Given the description of an element on the screen output the (x, y) to click on. 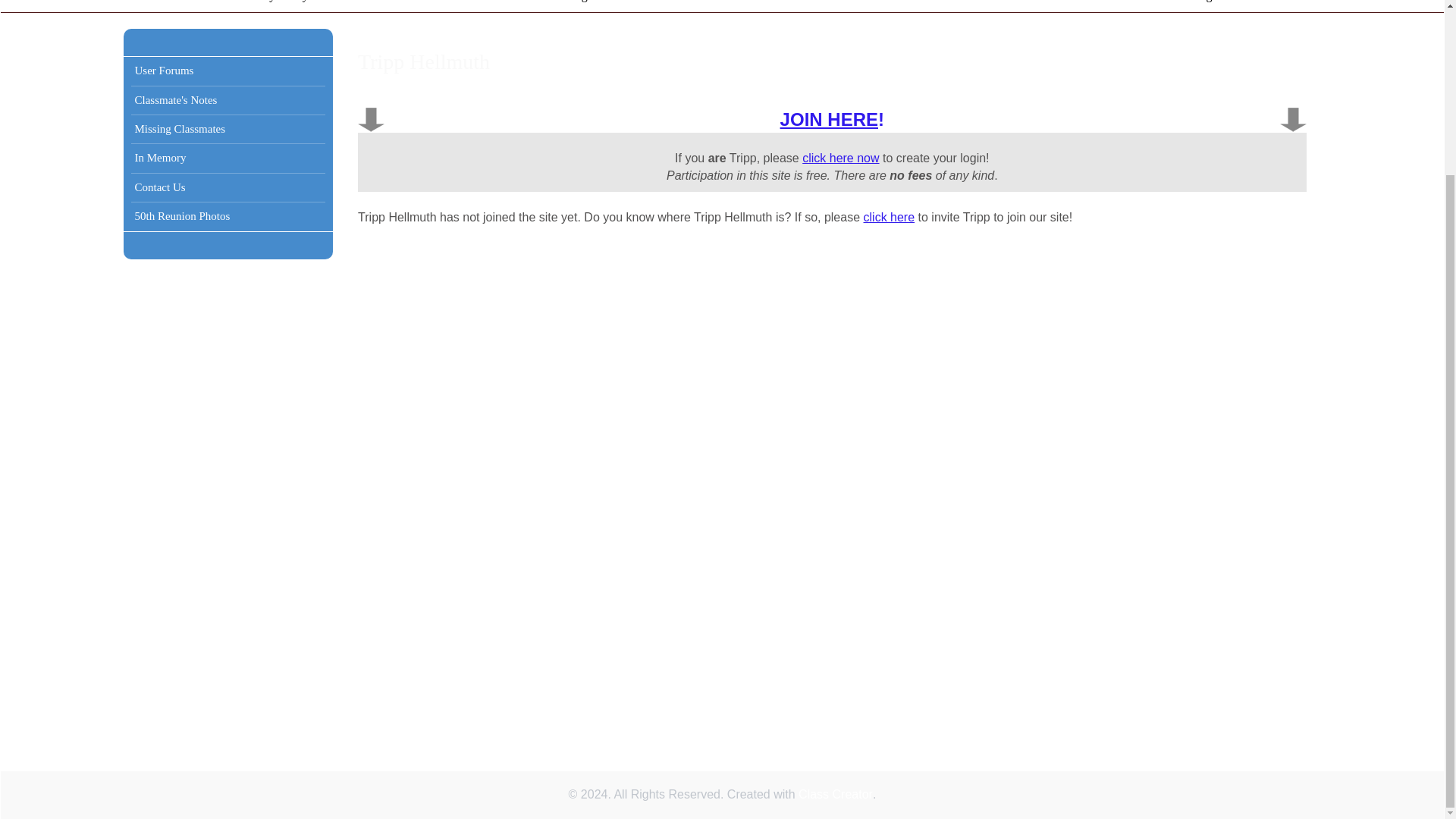
Classmate Profiles (784, 6)
Missing Classmates (227, 128)
User Forums (227, 70)
Class Creator (834, 794)
Message Forum (1214, 6)
click here (889, 216)
In Memory (227, 158)
Home Page (564, 6)
50th Reunion Photos (227, 216)
JOIN HERE! (831, 118)
